Given the description of an element on the screen output the (x, y) to click on. 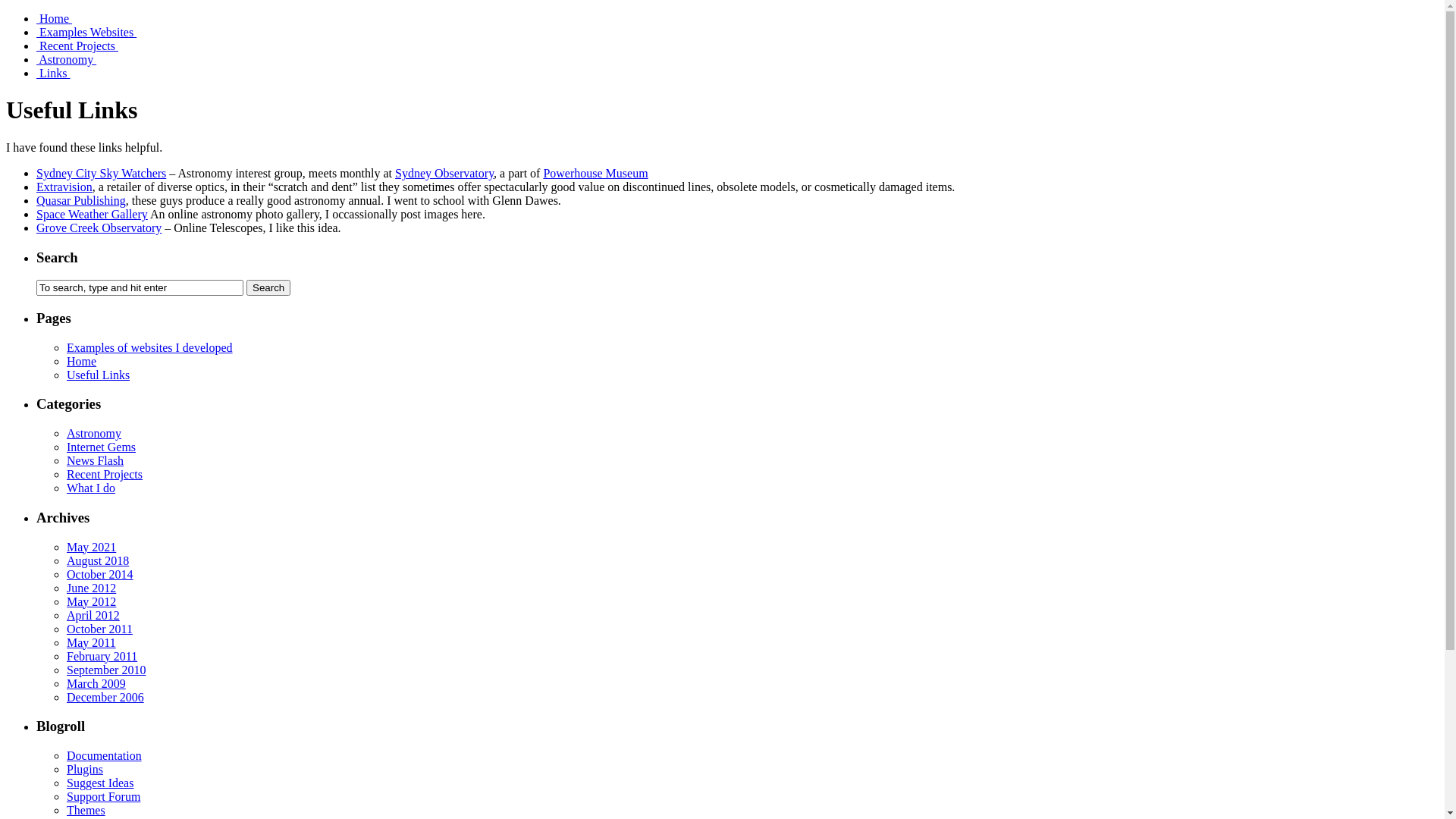
May 2011 Element type: text (91, 642)
 Links  Element type: text (52, 72)
June 2012 Element type: text (91, 587)
Examples of websites I developed Element type: text (149, 347)
Useful Links Element type: text (97, 374)
May 2012 Element type: text (91, 601)
Space Weather Gallery Element type: text (91, 213)
April 2012 Element type: text (92, 614)
Grove Creek Observatory Element type: text (98, 227)
February 2011 Element type: text (101, 655)
Extravision Element type: text (64, 186)
October 2011 Element type: text (99, 628)
Search Element type: text (268, 287)
Sydney City Sky Watchers Element type: text (101, 172)
Powerhouse Museum Element type: text (594, 172)
What I do Element type: text (90, 487)
March 2009 Element type: text (95, 683)
 Recent Projects  Element type: text (77, 45)
May 2021 Element type: text (91, 546)
Home Element type: text (81, 360)
Support Forum Element type: text (103, 796)
Sydney Observatory Element type: text (444, 172)
October 2014 Element type: text (99, 573)
Quasar Publishing Element type: text (80, 200)
Astronomy Element type: text (93, 432)
Internet Gems Element type: text (100, 446)
Plugins Element type: text (84, 768)
September 2010 Element type: text (105, 669)
Documentation Element type: text (103, 755)
Themes Element type: text (85, 809)
December 2006 Element type: text (105, 696)
 Examples Websites  Element type: text (86, 31)
News Flash Element type: text (94, 460)
Suggest Ideas Element type: text (99, 782)
Recent Projects Element type: text (104, 473)
August 2018 Element type: text (97, 560)
 Home  Element type: text (54, 18)
 Astronomy  Element type: text (66, 59)
